Given the description of an element on the screen output the (x, y) to click on. 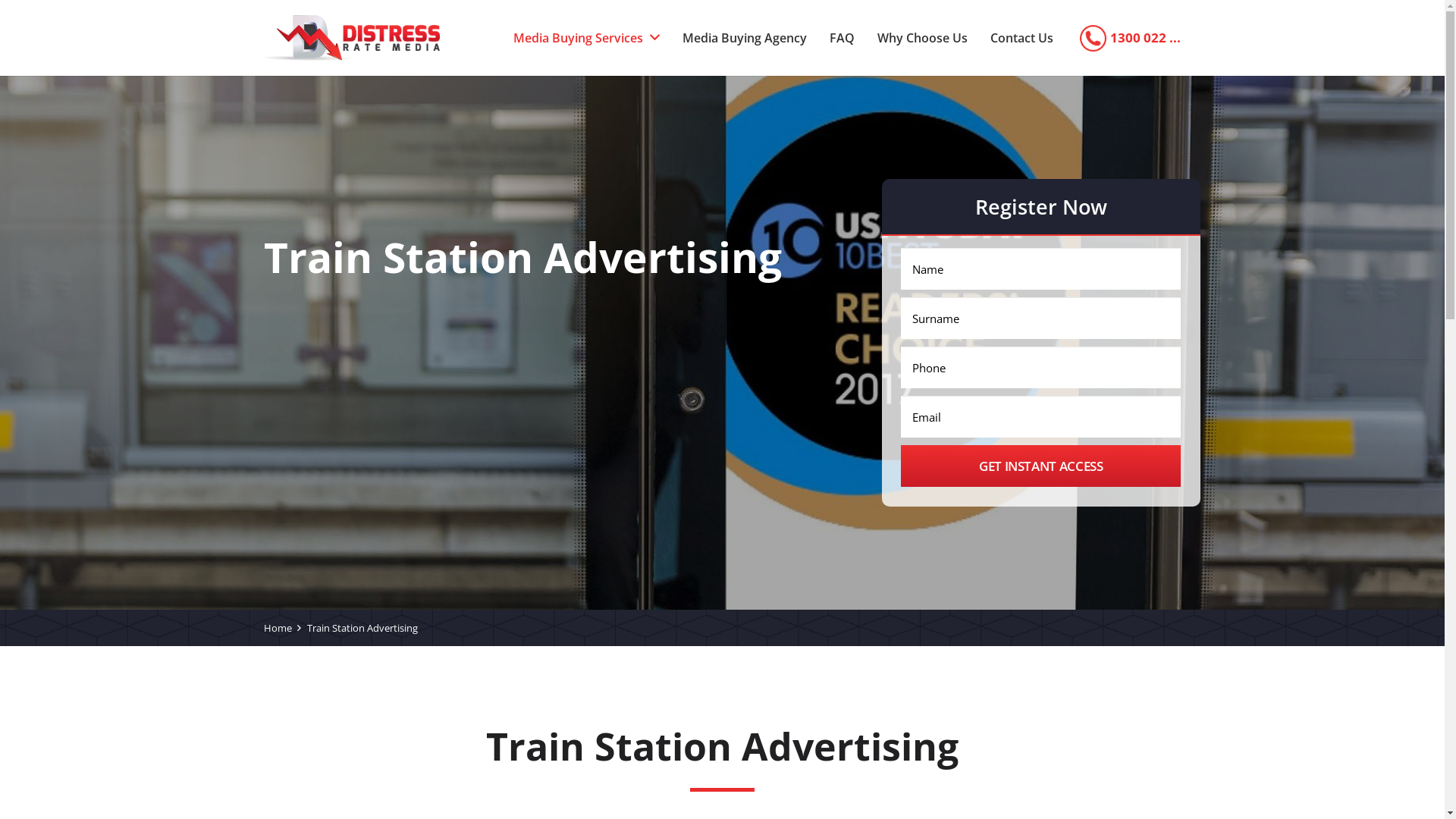
Contact Us Element type: text (1021, 37)
GET INSTANT ACCESS Element type: text (1040, 465)
Home Element type: text (277, 627)
1300 022 ... Element type: text (1145, 37)
Why Choose Us Element type: text (922, 37)
Media Buying Agency Element type: hover (351, 37)
Media Buying Services Element type: text (586, 37)
Train Station Advertising Element type: text (362, 627)
Media Buying Agency Element type: text (744, 37)
FAQ Element type: text (842, 37)
